Given the description of an element on the screen output the (x, y) to click on. 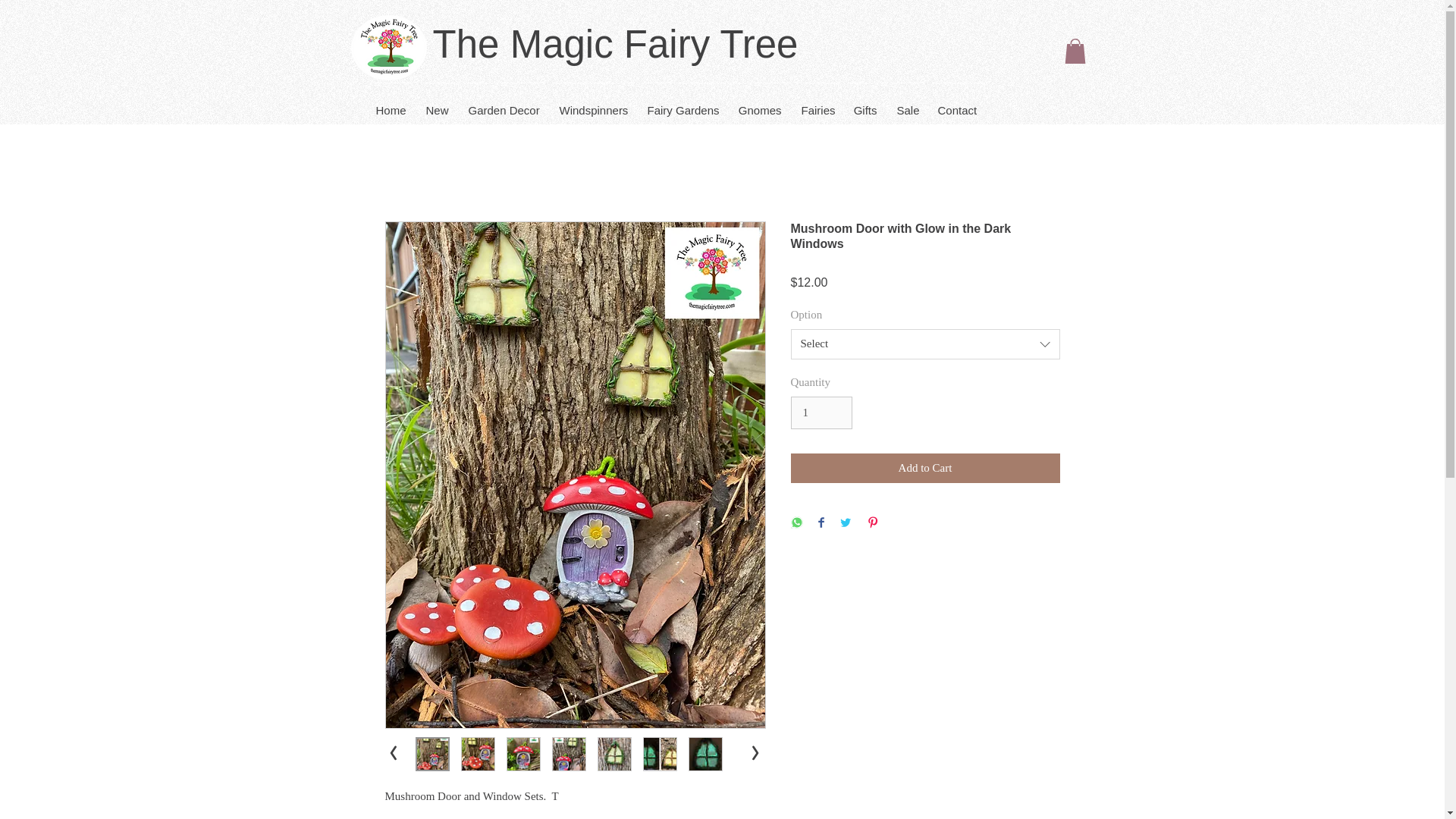
Fairy Gardens (682, 103)
Garden Decor (503, 103)
1 (820, 412)
New (436, 103)
Gifts (864, 103)
Home (389, 103)
Windspinners (592, 103)
Gnomes (759, 103)
Fairies (818, 103)
The Magic Fairy Tree (614, 44)
